Given the description of an element on the screen output the (x, y) to click on. 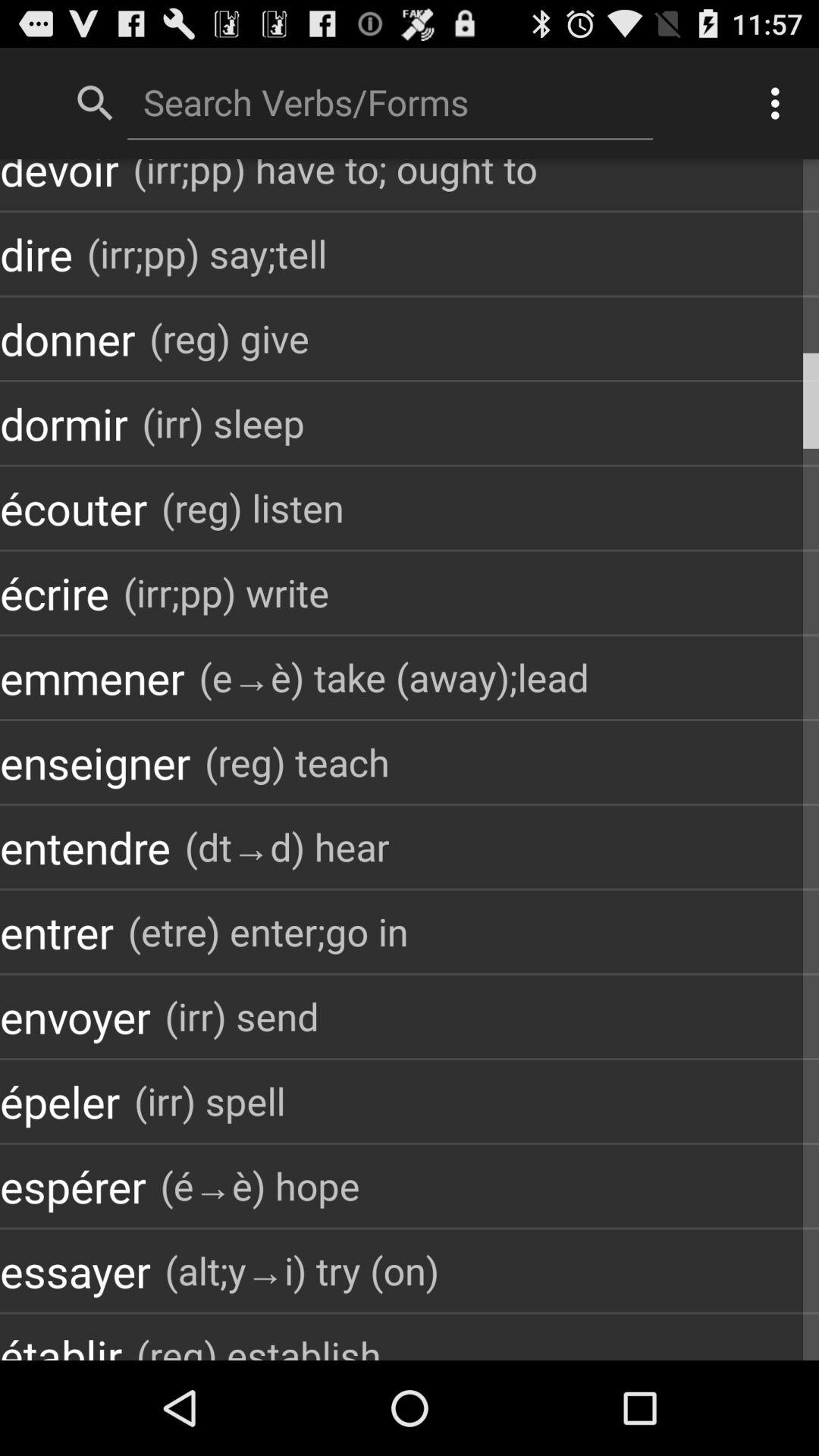
jump to the (reg) establish item (258, 1343)
